Given the description of an element on the screen output the (x, y) to click on. 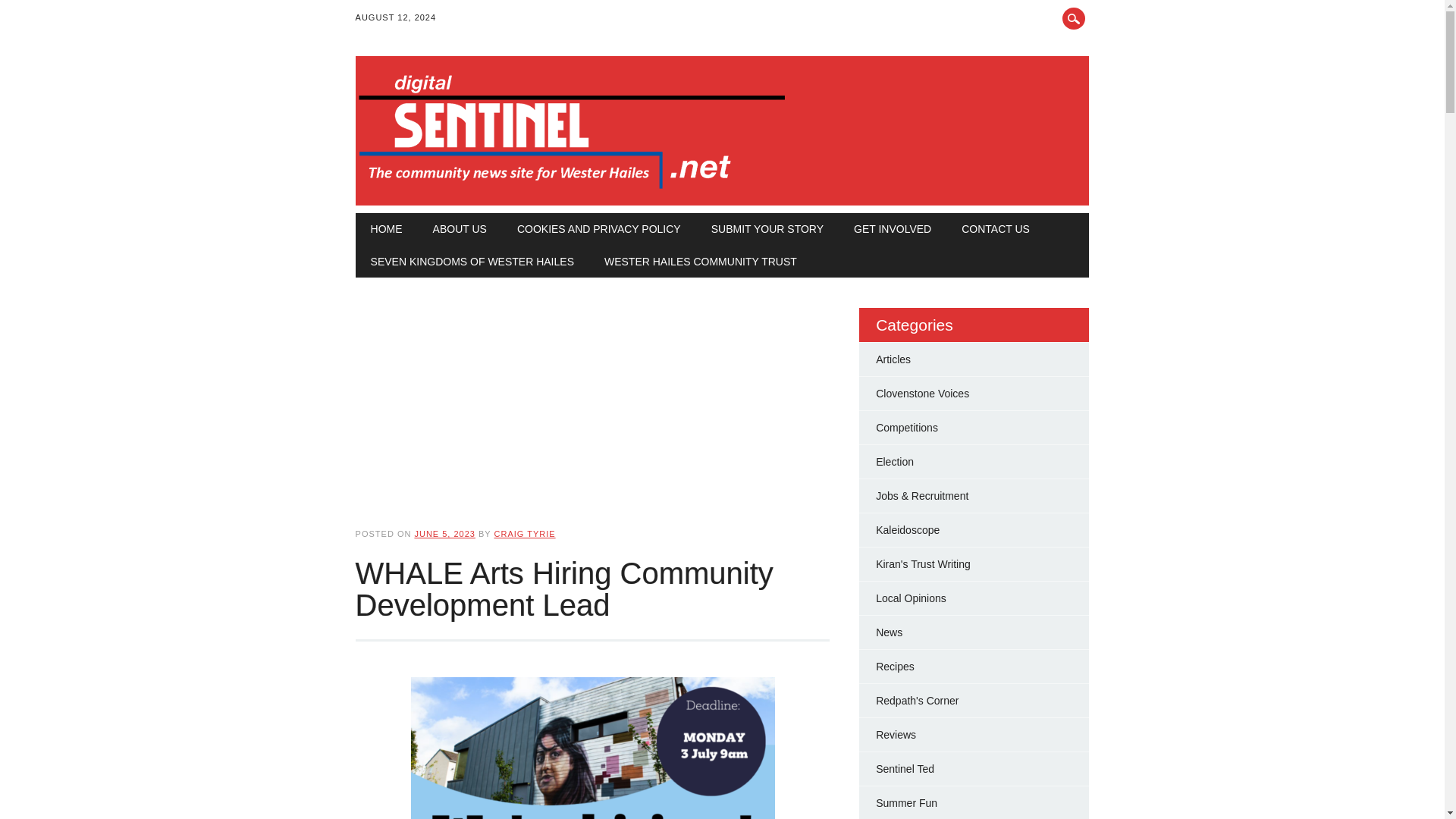
COOKIES AND PRIVACY POLICY (598, 228)
View all posts by Craig Tyrie (525, 533)
JUNE 5, 2023 (443, 533)
SUBMIT YOUR STORY (766, 228)
ABOUT US (459, 228)
SEVEN KINGDOMS OF WESTER HAILES (472, 261)
Election (895, 461)
CRAIG TYRIE (525, 533)
Digital Sentinel (572, 189)
CONTACT US (995, 228)
